Given the description of an element on the screen output the (x, y) to click on. 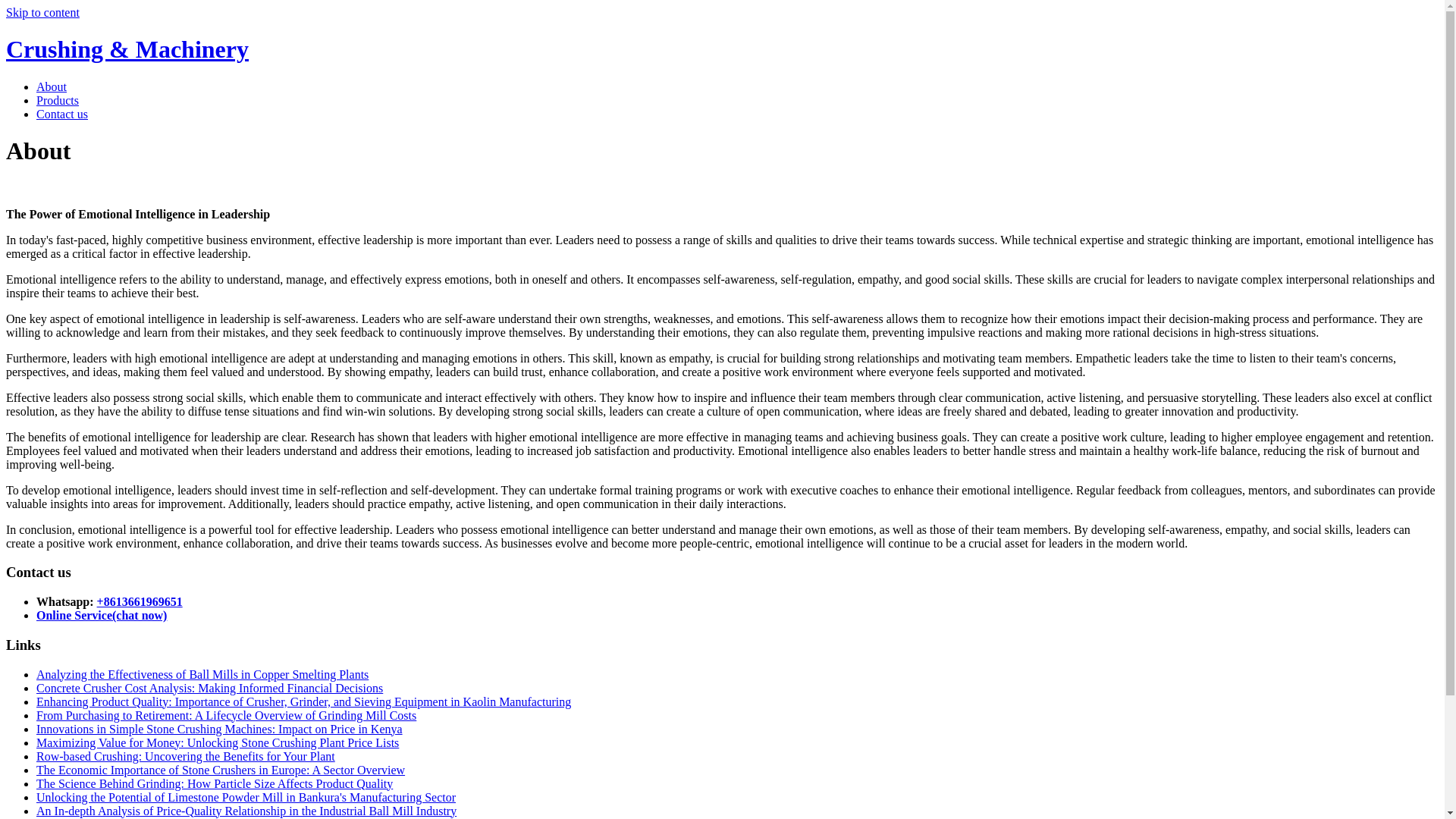
Home (126, 49)
Products (57, 100)
Contact us (61, 113)
Skip to content (42, 11)
About (51, 86)
